Given the description of an element on the screen output the (x, y) to click on. 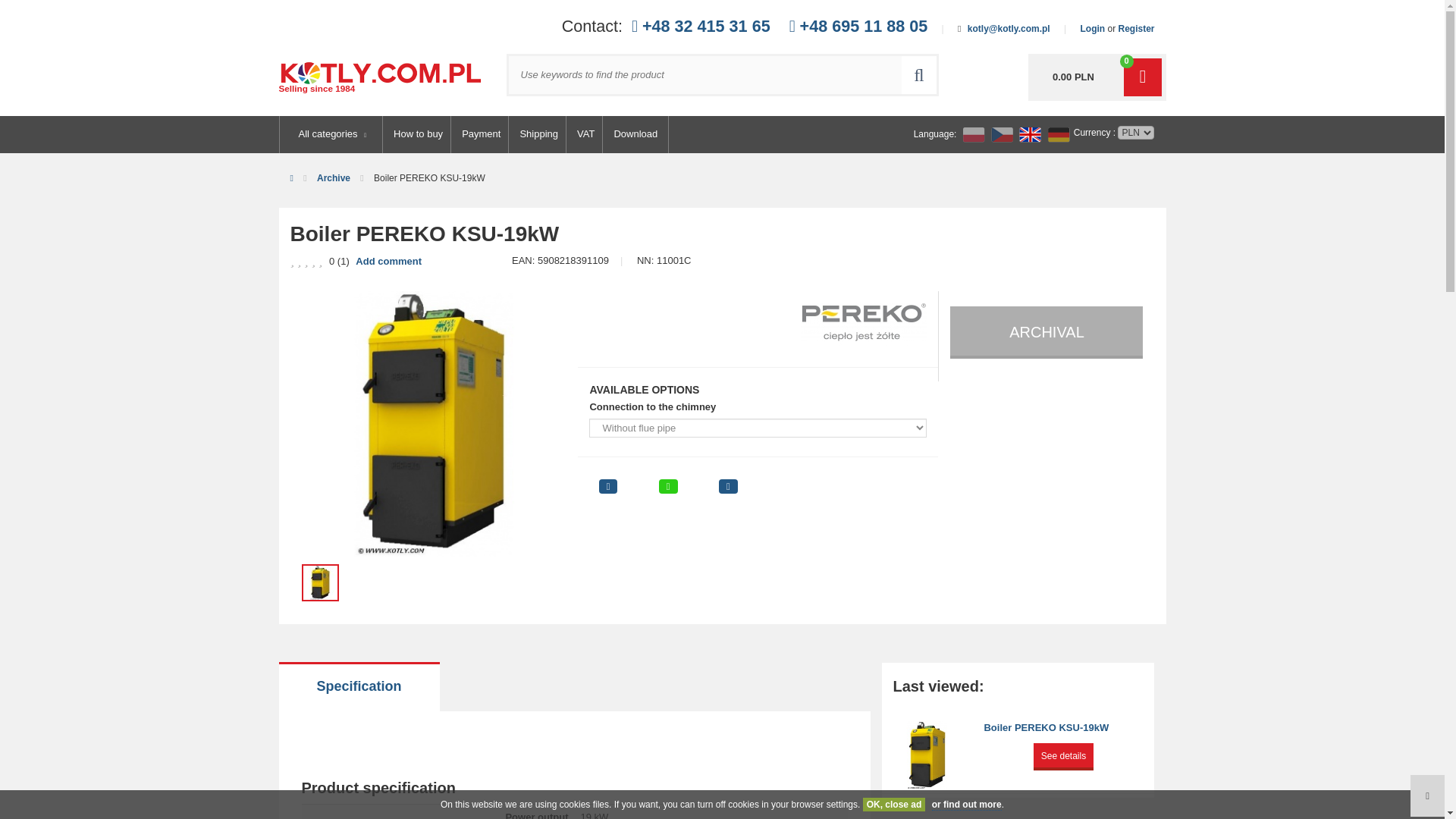
Payment (480, 134)
Shipping (538, 134)
 Register (1136, 28)
 Change language (1059, 134)
Kotly.com.pl (381, 78)
 Login (1092, 28)
Payment (480, 134)
Download (635, 134)
Register (1136, 28)
 Change language (1002, 134)
